Given the description of an element on the screen output the (x, y) to click on. 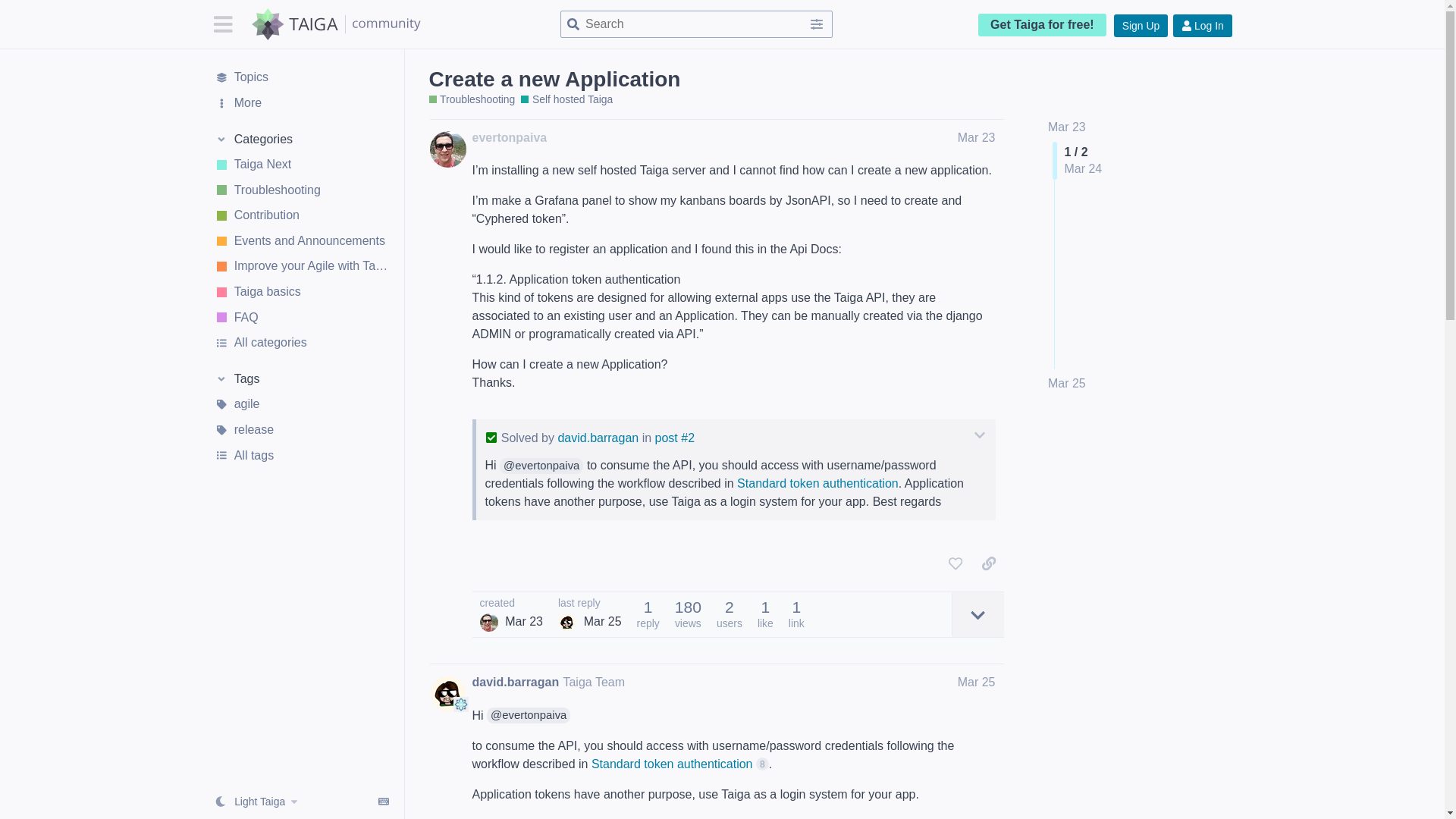
Sidebar (222, 23)
All tags (301, 455)
release (301, 429)
More (301, 103)
Standard token authentication (817, 482)
Categories (301, 139)
Mar 23 (976, 137)
All topics (301, 77)
Topics (301, 77)
Taiga basics (301, 291)
Troubleshooting (301, 190)
Events and Announcements (301, 240)
